Given the description of an element on the screen output the (x, y) to click on. 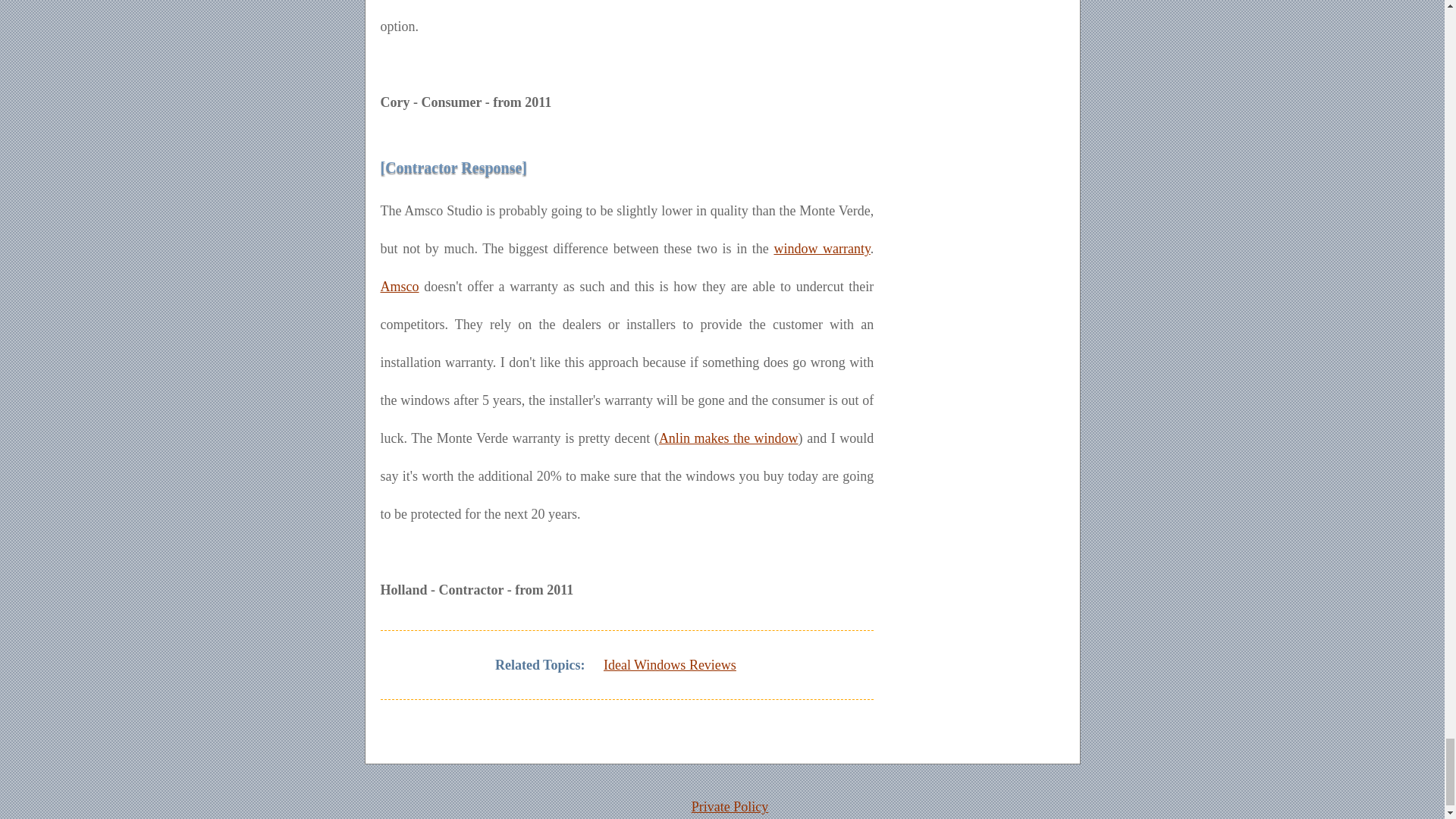
Anlin makes the window (728, 437)
window warranty (821, 248)
Amsco (399, 286)
Private Policy (729, 806)
Ideal Windows Reviews (669, 664)
